Given the description of an element on the screen output the (x, y) to click on. 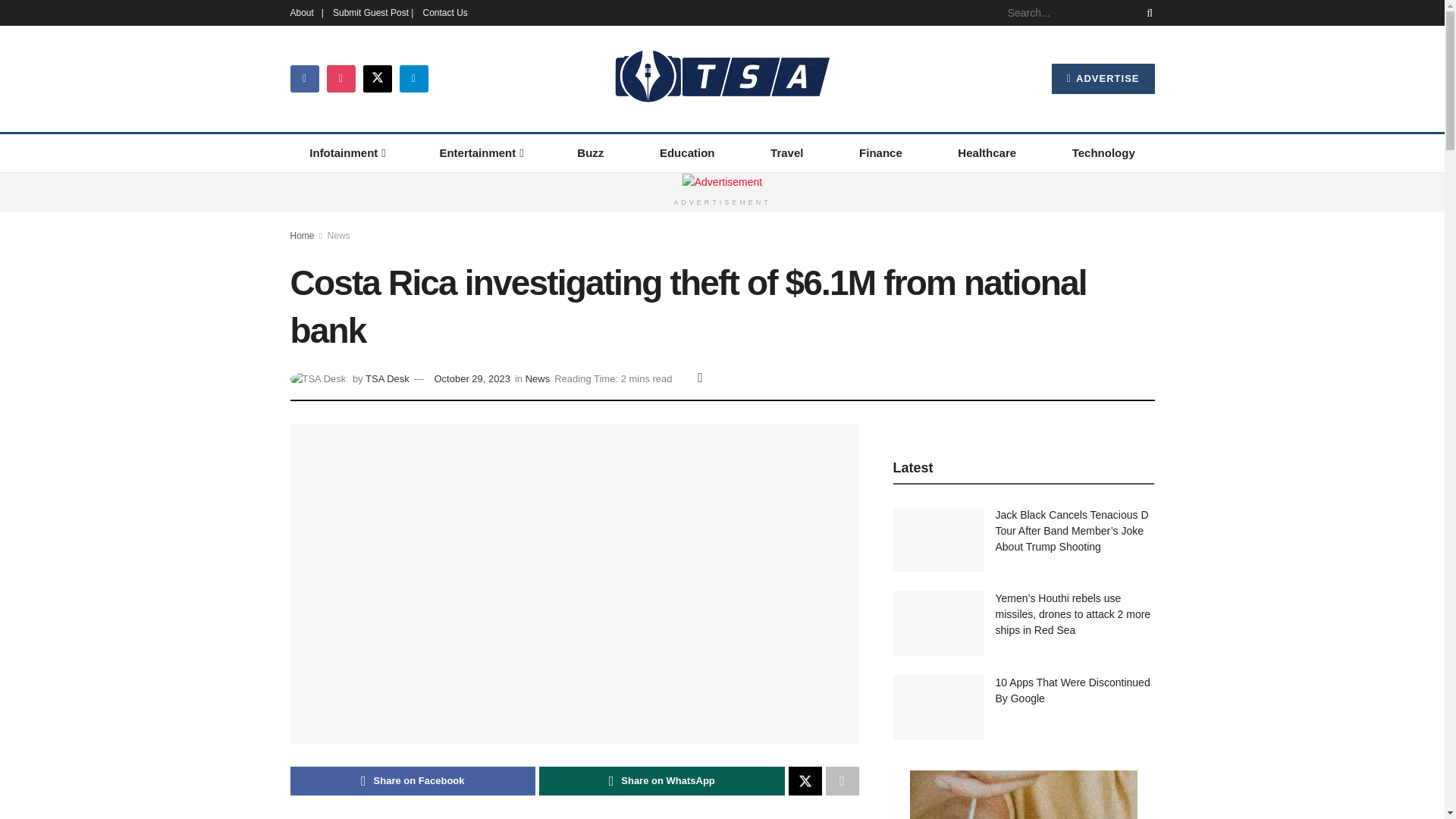
ADVERTISE (1102, 78)
TSA Desk (387, 378)
Infotainment (346, 152)
Entertainment (480, 152)
Contact Us (444, 12)
Finance (880, 152)
Buzz (590, 152)
Healthcare (987, 152)
Home (301, 235)
Education (686, 152)
News (338, 235)
Technology (1103, 152)
Travel (786, 152)
